Given the description of an element on the screen output the (x, y) to click on. 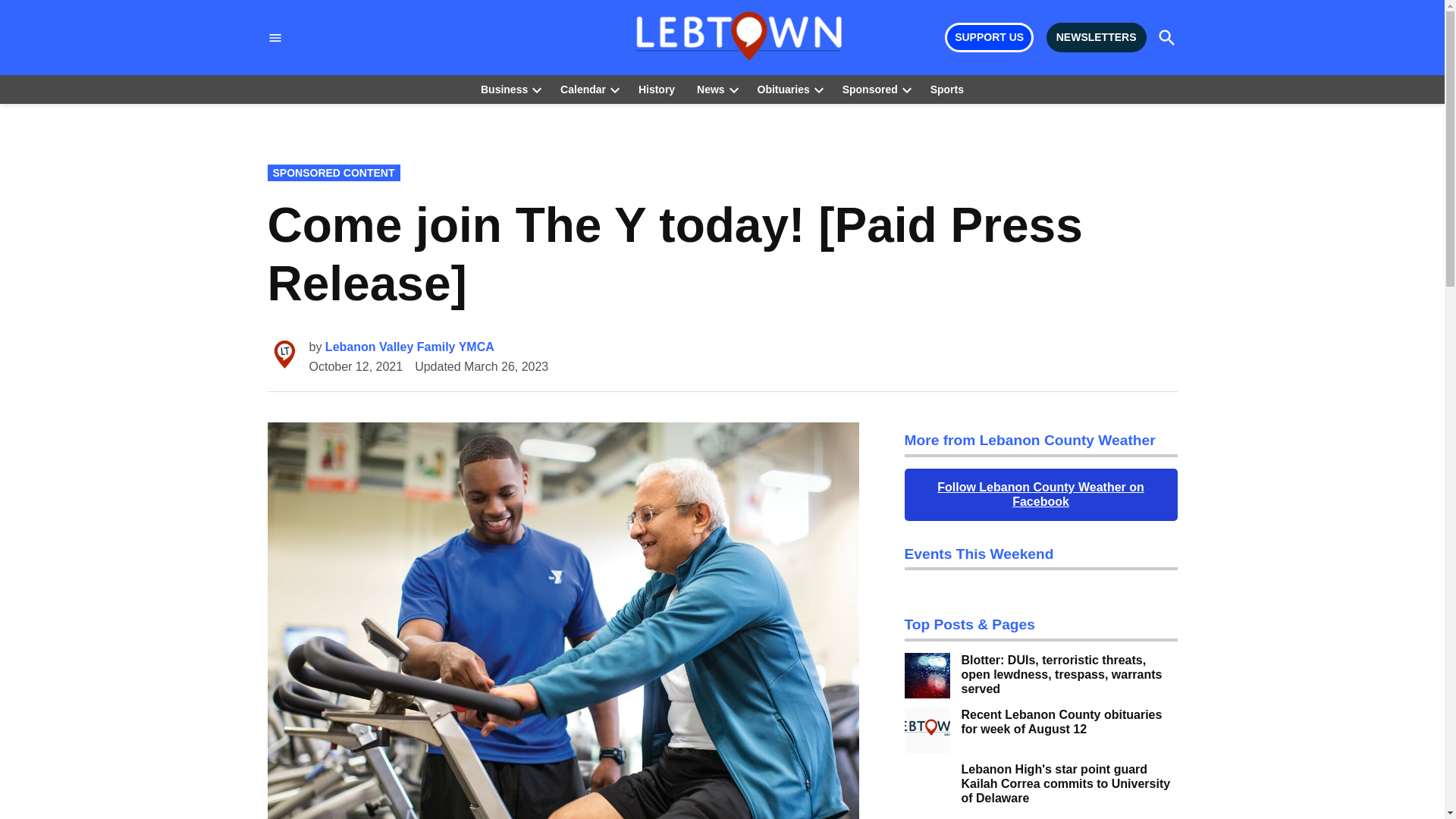
Recent Lebanon County obituaries for week of August 12 (1068, 721)
